Given the description of an element on the screen output the (x, y) to click on. 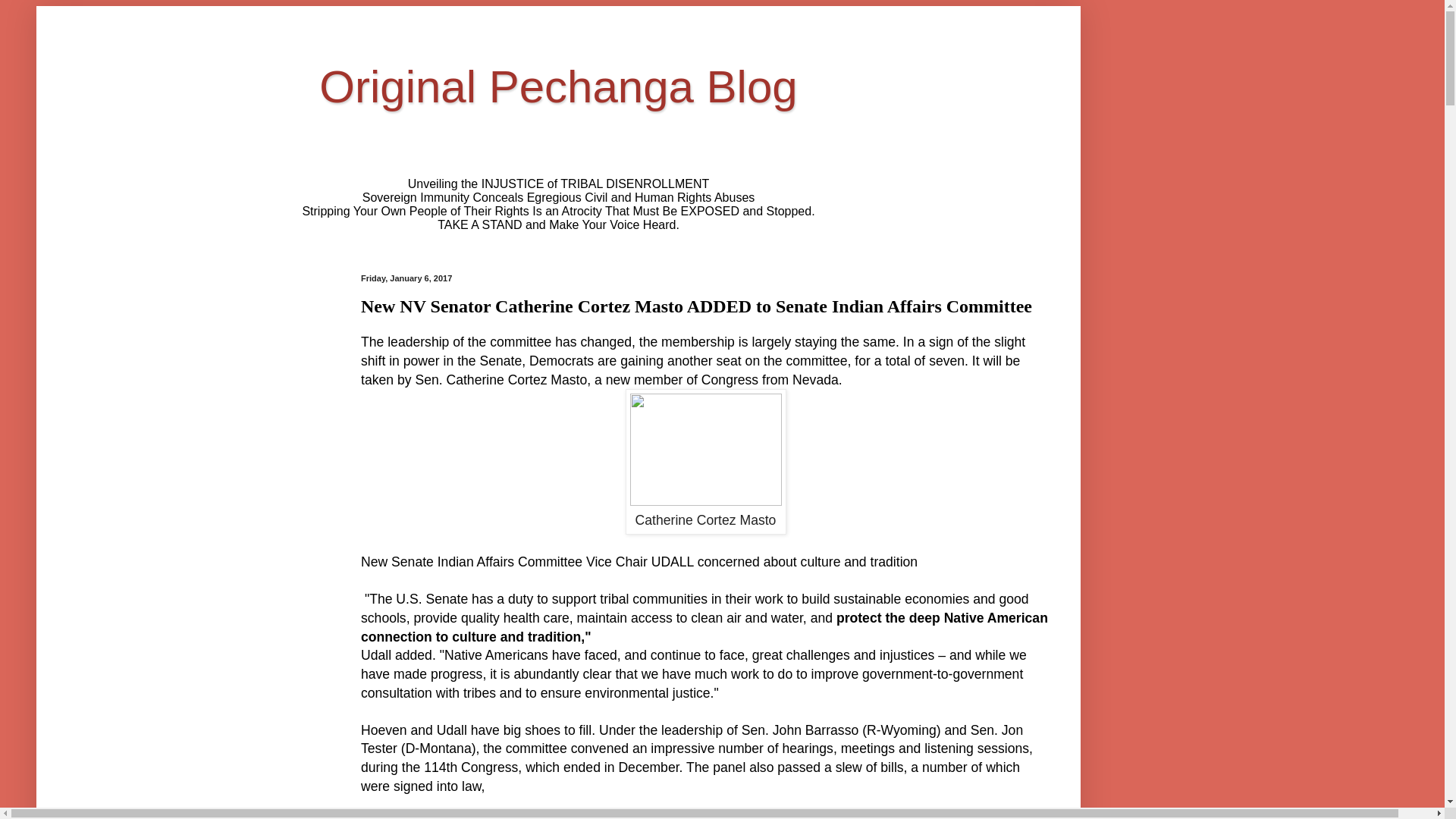
Original Pechanga Blog (557, 86)
